Given the description of an element on the screen output the (x, y) to click on. 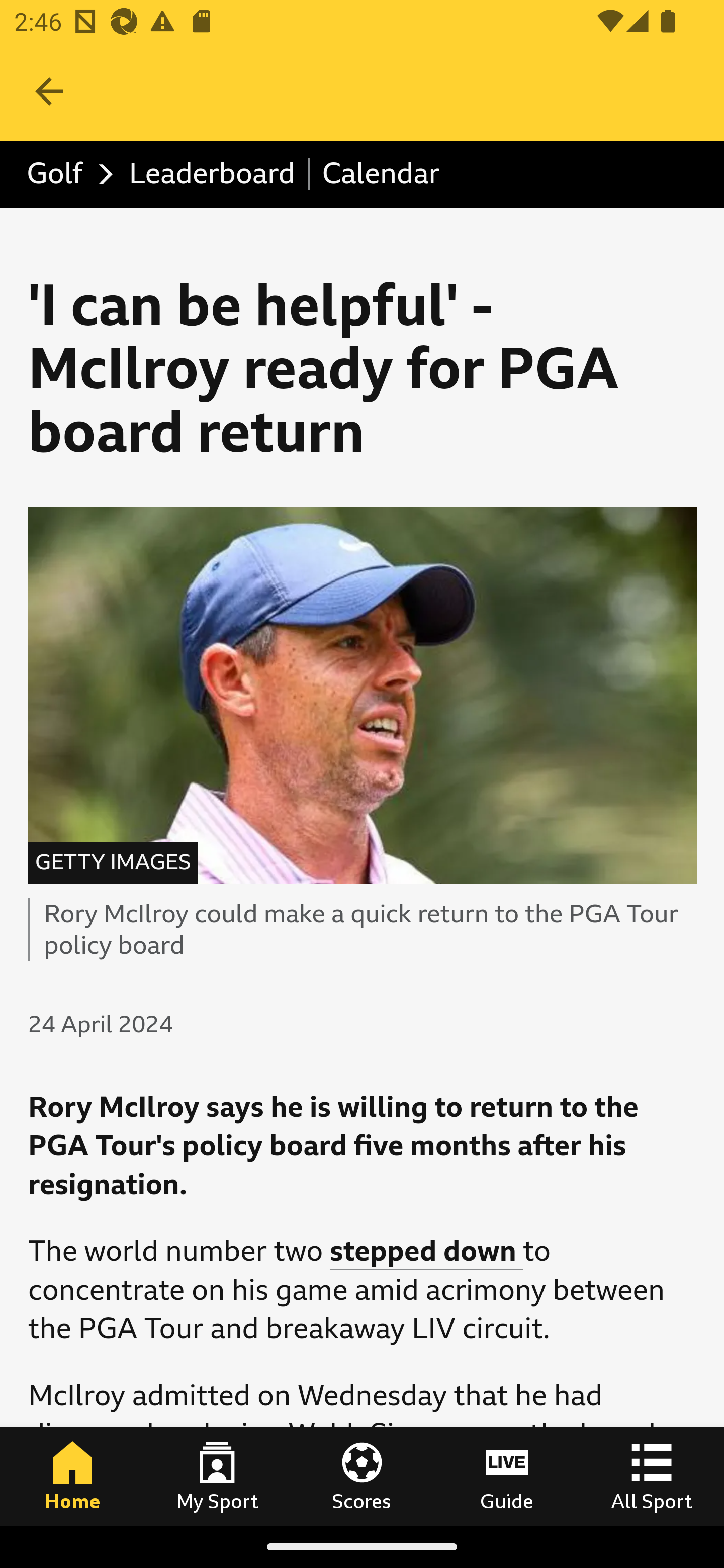
Navigate up (49, 91)
Golf (65, 173)
Leaderboard (213, 173)
Calendar (380, 173)
stepped down  (426, 1251)
My Sport (216, 1475)
Scores (361, 1475)
Guide (506, 1475)
All Sport (651, 1475)
